Given the description of an element on the screen output the (x, y) to click on. 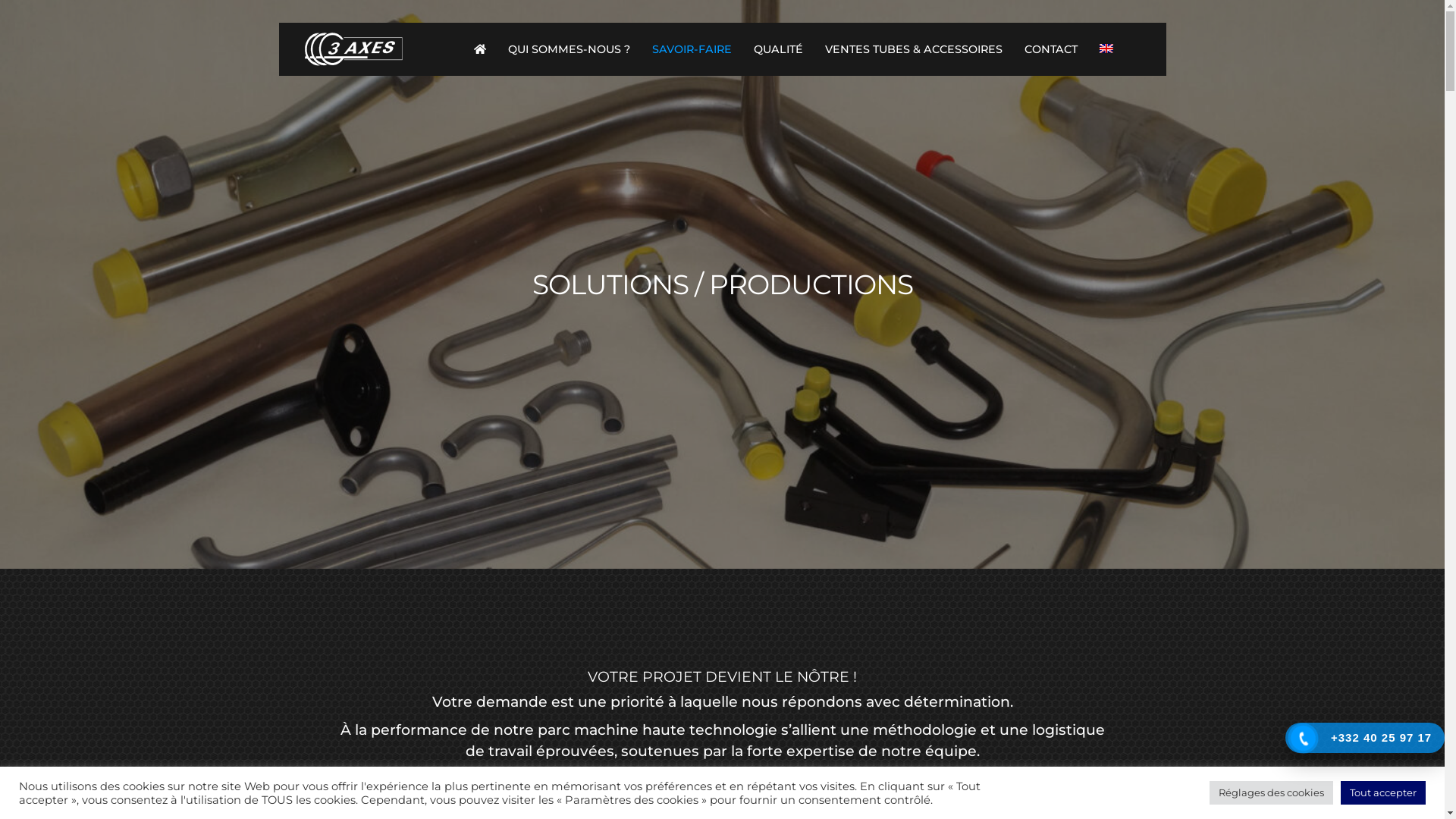
Tout accepter Element type: text (1382, 792)
CONTACT Element type: text (1050, 49)
VENTES TUBES & ACCESSOIRES Element type: text (913, 49)
+332 40 25 97 17 Element type: text (1364, 737)
QUI SOMMES-NOUS ? Element type: text (568, 49)
SAVOIR-FAIRE Element type: text (691, 49)
LOGO3AXES-blanc-40 Element type: hover (352, 49)
